Given the description of an element on the screen output the (x, y) to click on. 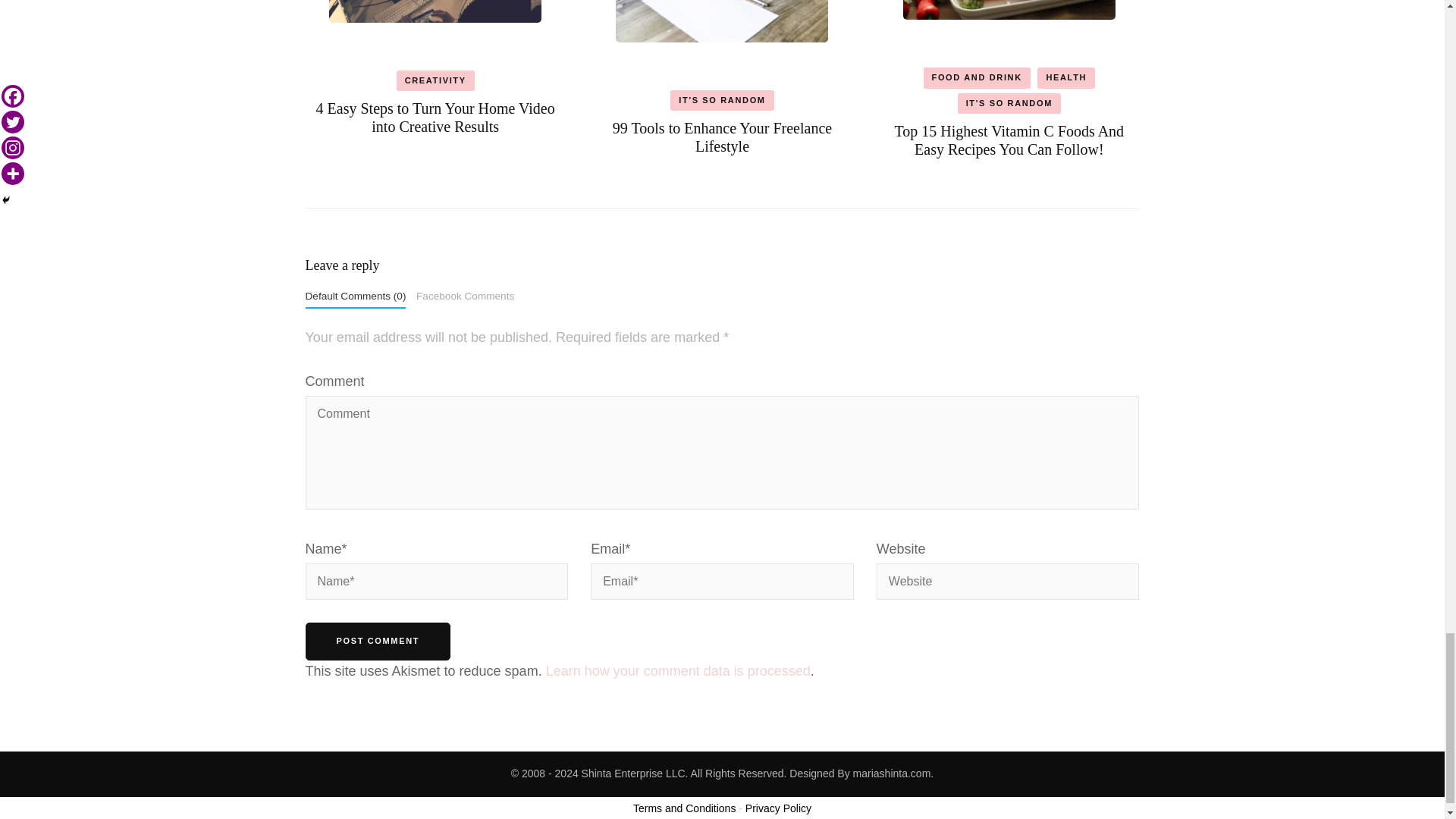
Post Comment (376, 641)
